Given the description of an element on the screen output the (x, y) to click on. 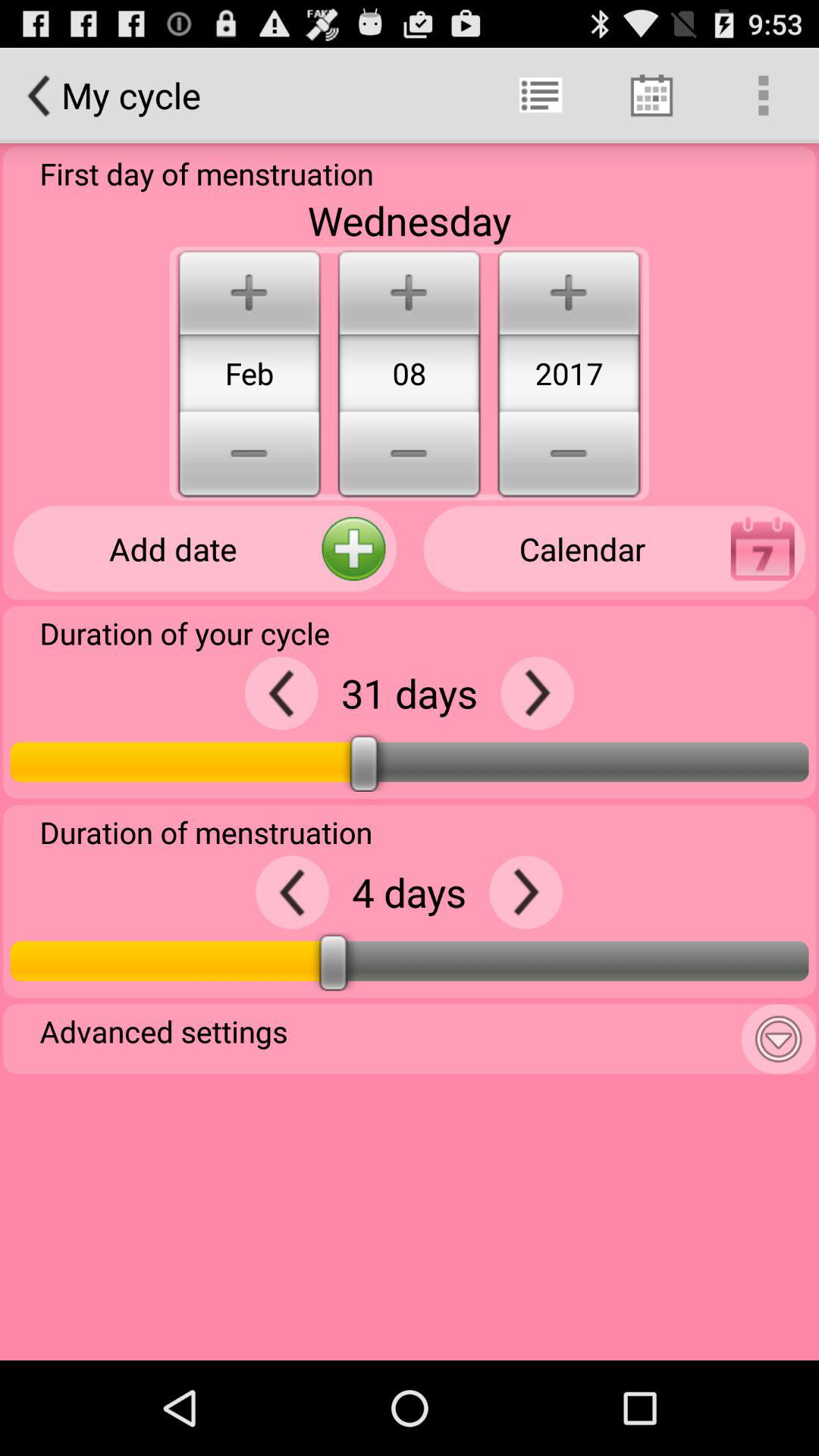
increment by 1 (525, 892)
